Given the description of an element on the screen output the (x, y) to click on. 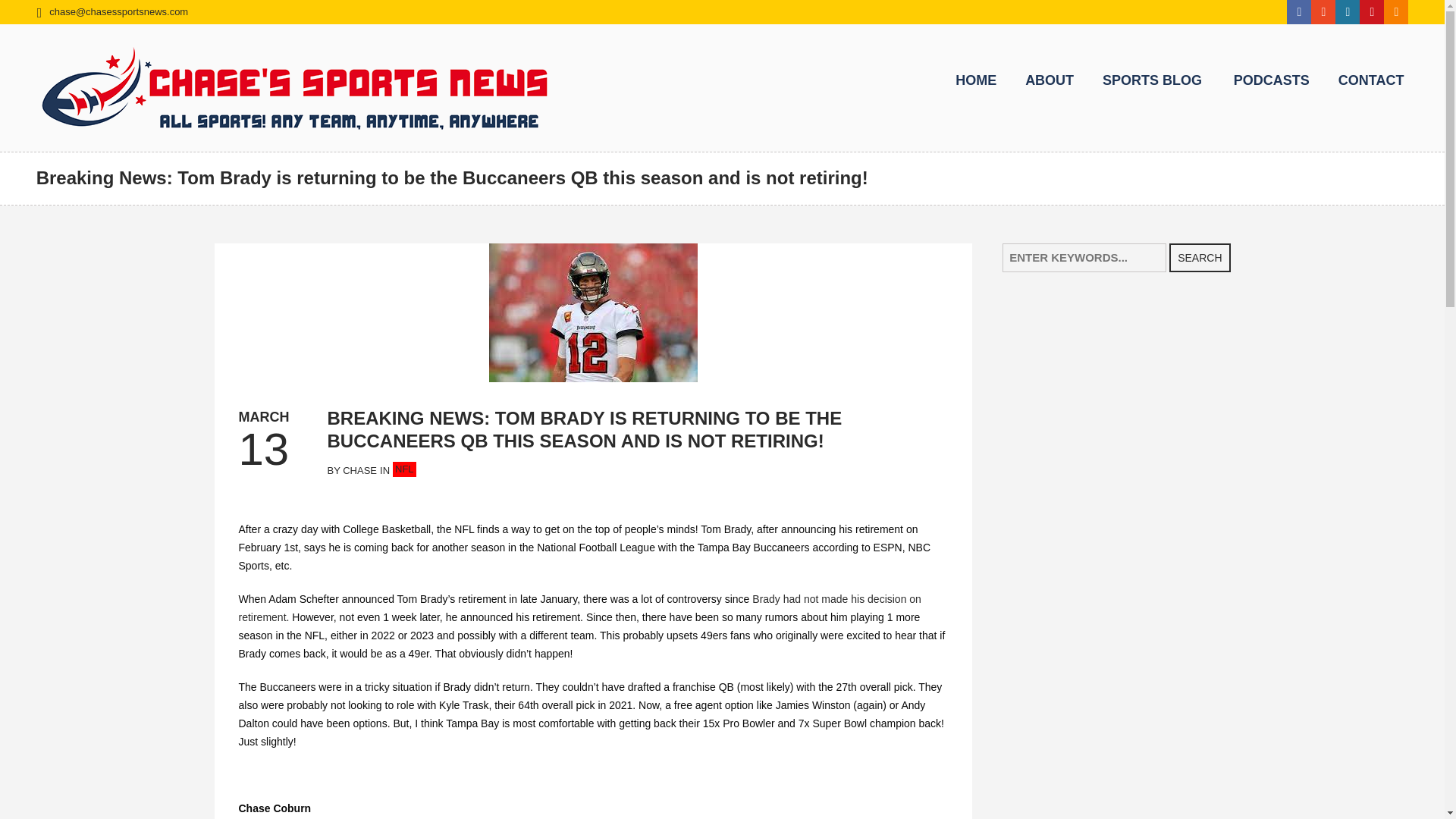
ABOUT (1049, 80)
Facebook (1299, 12)
March 13, 2022 (263, 416)
RSS (1395, 12)
HOME (975, 80)
March 13, 2022 (263, 449)
CONTACT (1371, 80)
Youtube (1371, 12)
Wordpress (1347, 12)
Brady had not made his decision on retirement. (579, 607)
NFL (404, 468)
Posts by chase (359, 470)
CHASE (359, 470)
SPORTS BLOG (1152, 80)
